Given the description of an element on the screen output the (x, y) to click on. 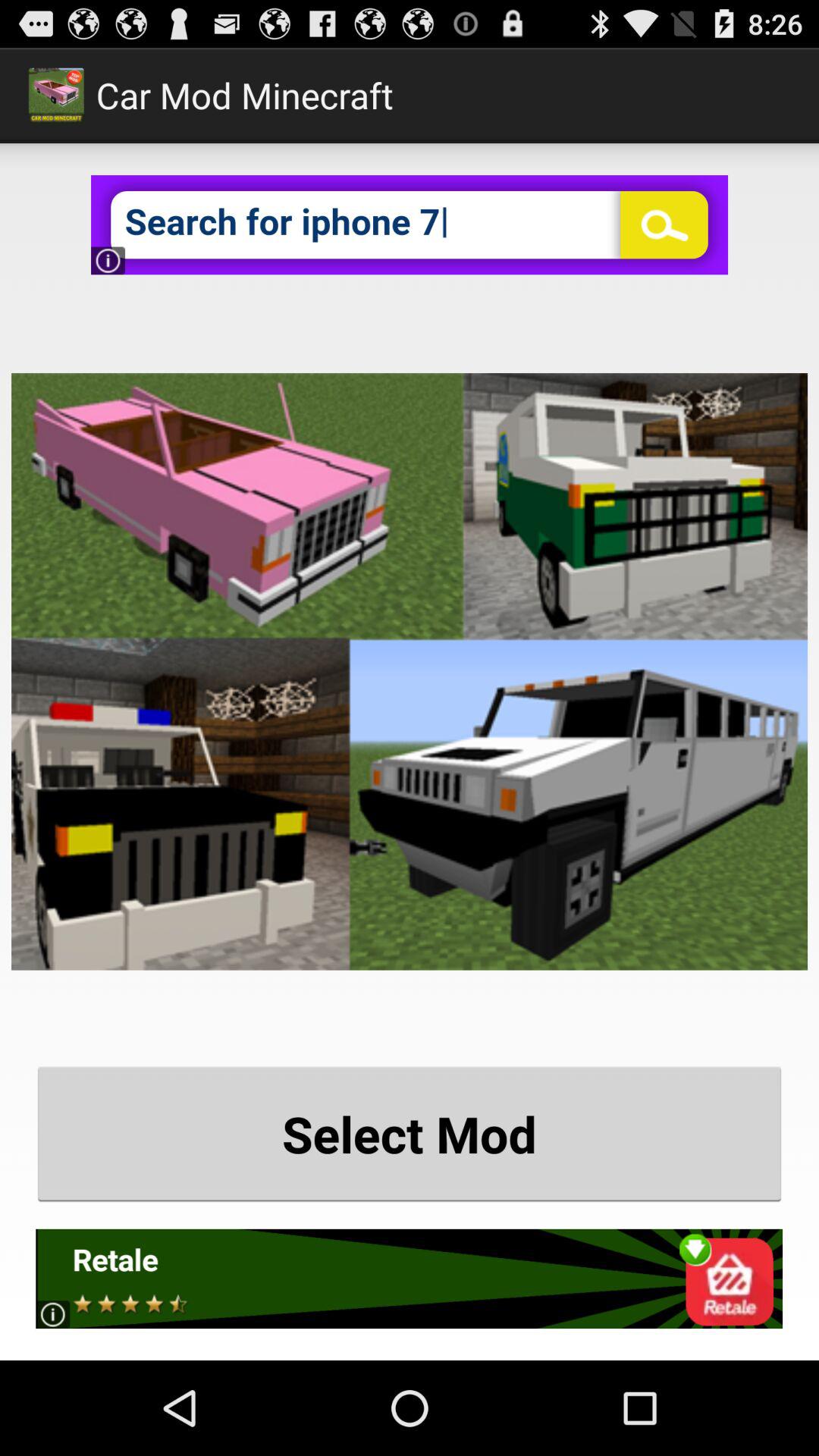
go to iphone 7 advertisement (409, 224)
